Given the description of an element on the screen output the (x, y) to click on. 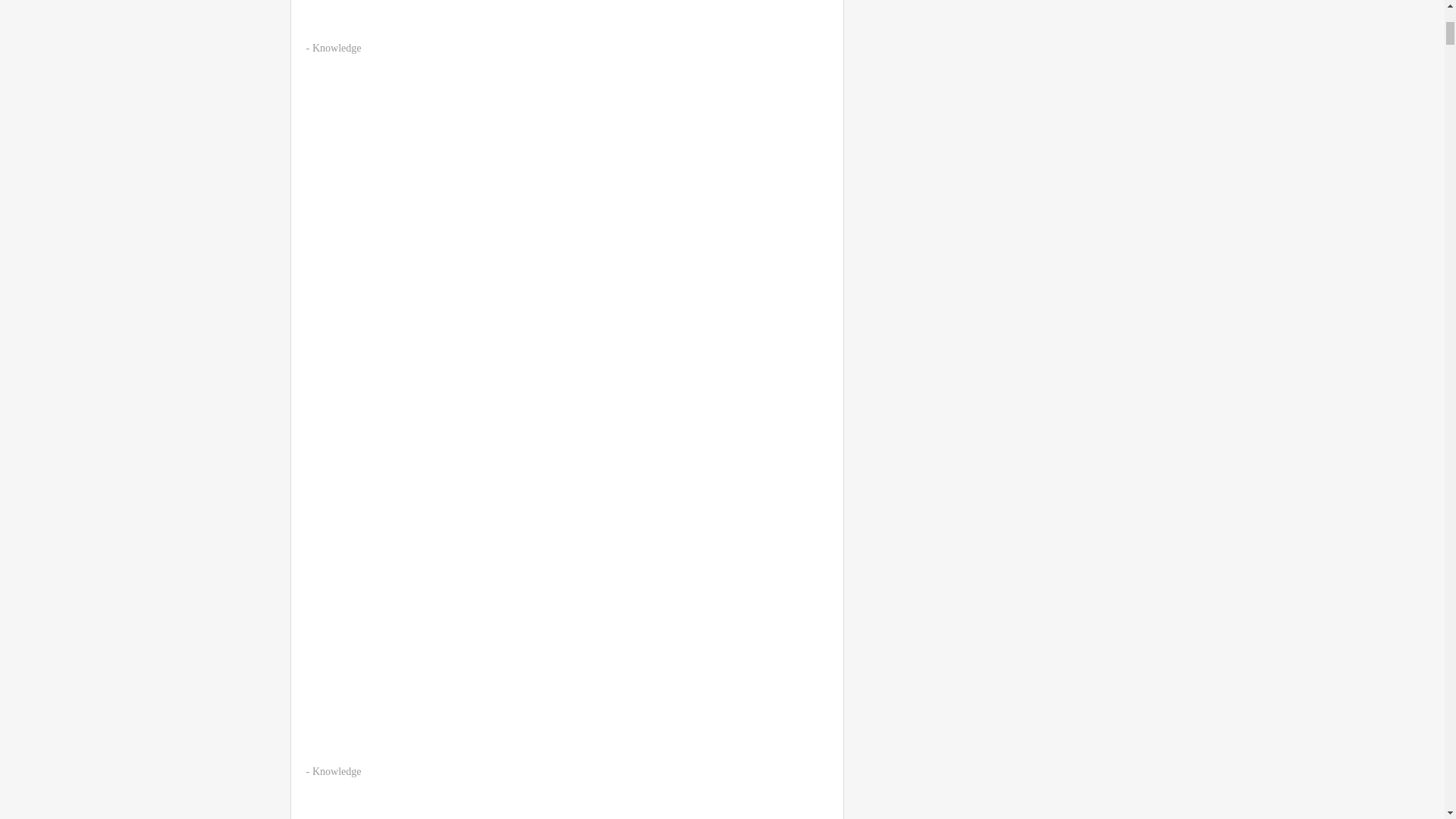
Knowledge (337, 48)
Knowledge (337, 771)
